Given the description of an element on the screen output the (x, y) to click on. 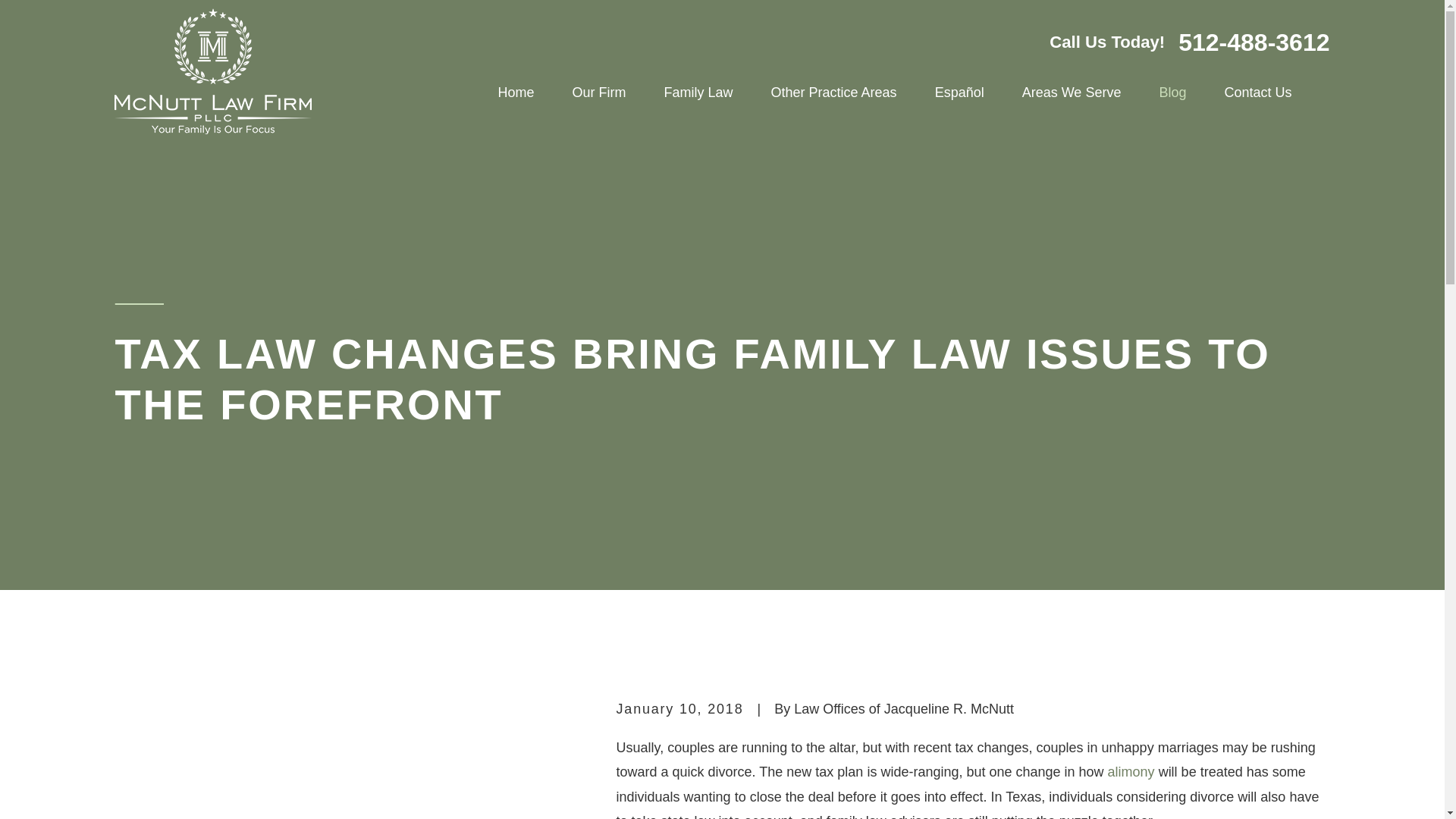
Other Practice Areas (833, 92)
Home (213, 71)
Home (515, 92)
Our Firm (599, 92)
Family Law (698, 92)
McNutt Law Firm, PLLC (213, 71)
512-488-3612 (1253, 42)
